Given the description of an element on the screen output the (x, y) to click on. 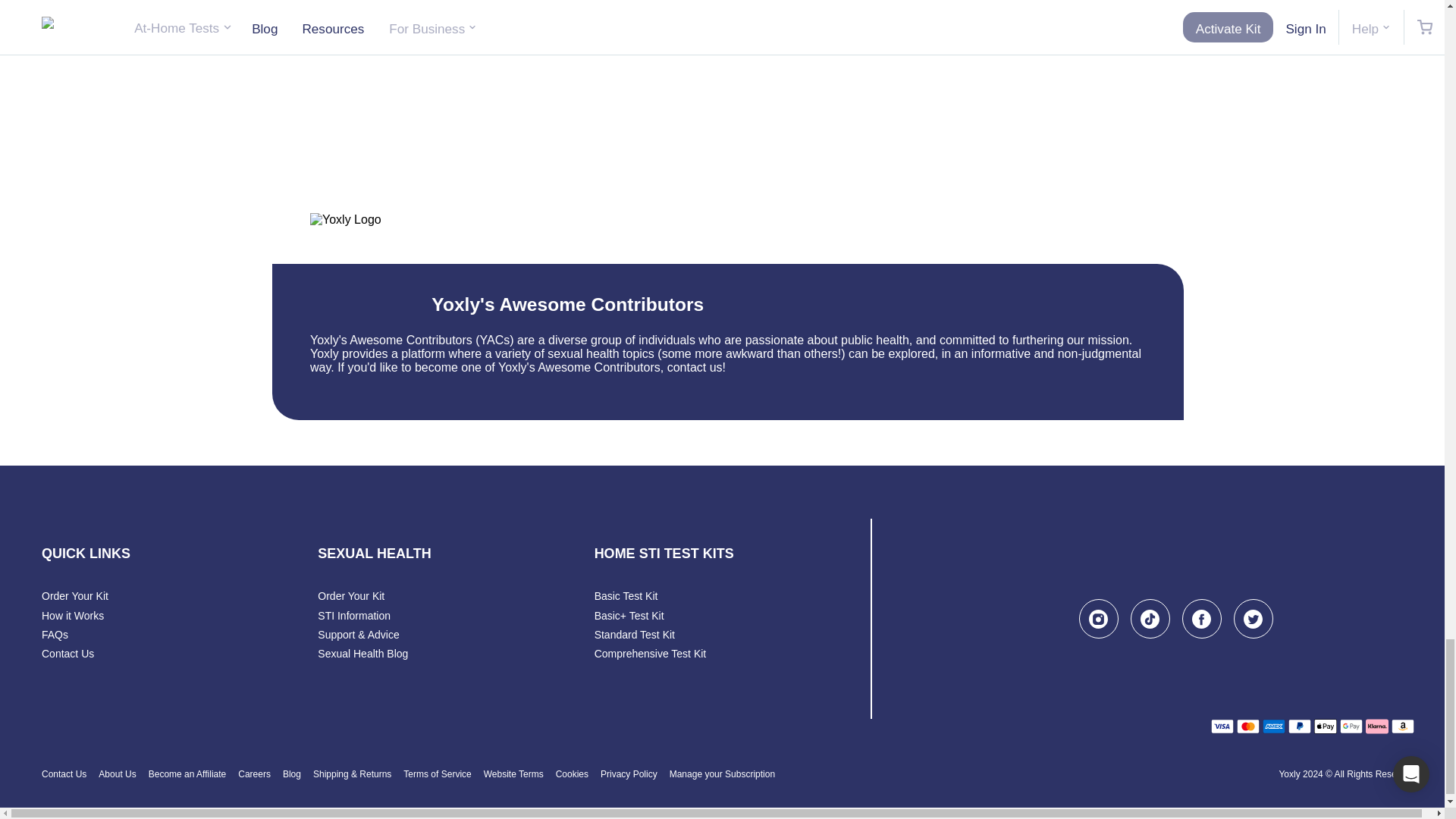
Comprehensive Test Kit (650, 653)
FAQs (55, 634)
Contact Us (63, 775)
Mastercard (1247, 726)
Order Your Kit (350, 595)
Google Pay (1350, 726)
Amazon (1402, 726)
Contact Us (68, 653)
Visa (1222, 726)
Klarna (1377, 726)
